Given the description of an element on the screen output the (x, y) to click on. 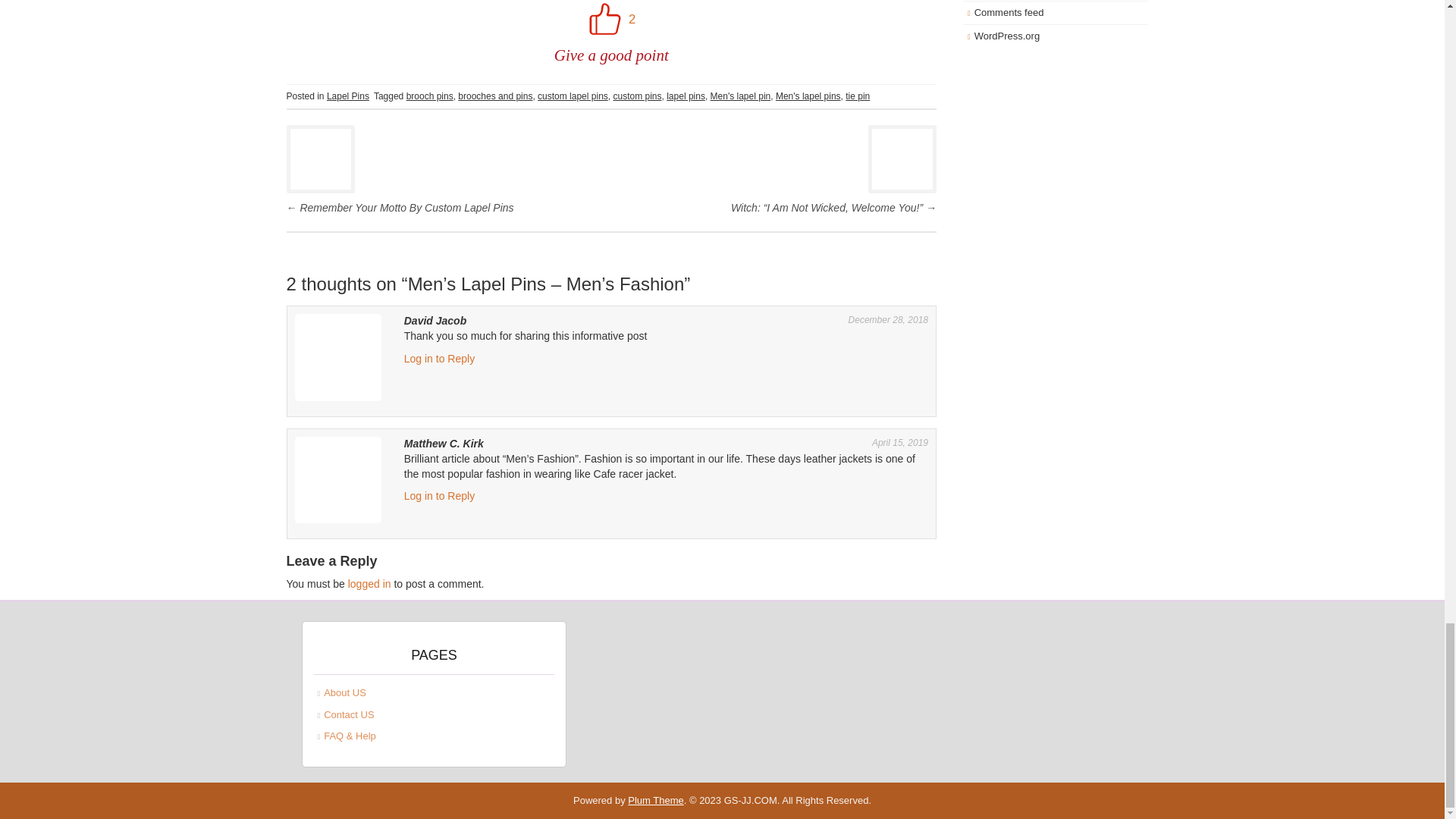
Lapel Pins (347, 95)
lapel pins (685, 95)
custom pins (636, 95)
custom lapel pins (572, 95)
Log in to Reply (439, 495)
Log in to Reply (439, 358)
brooch pins (429, 95)
tie pin (857, 95)
2 (610, 19)
Men's lapel pin (740, 95)
